Given the description of an element on the screen output the (x, y) to click on. 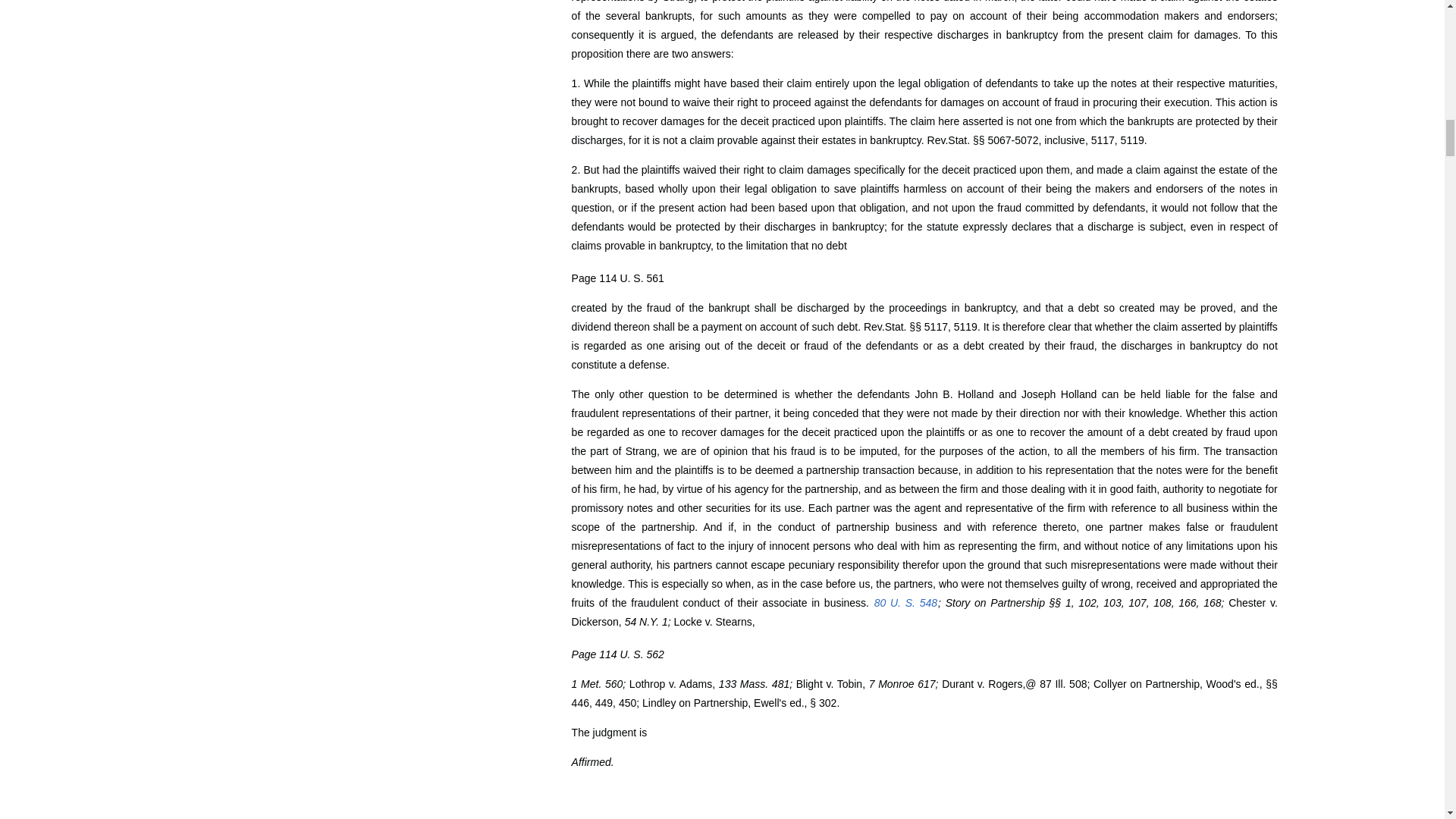
Page 114 U. S. 562 (617, 654)
80 U. S. 548 (905, 603)
Page 114 U. S. 561 (617, 277)
